Given the description of an element on the screen output the (x, y) to click on. 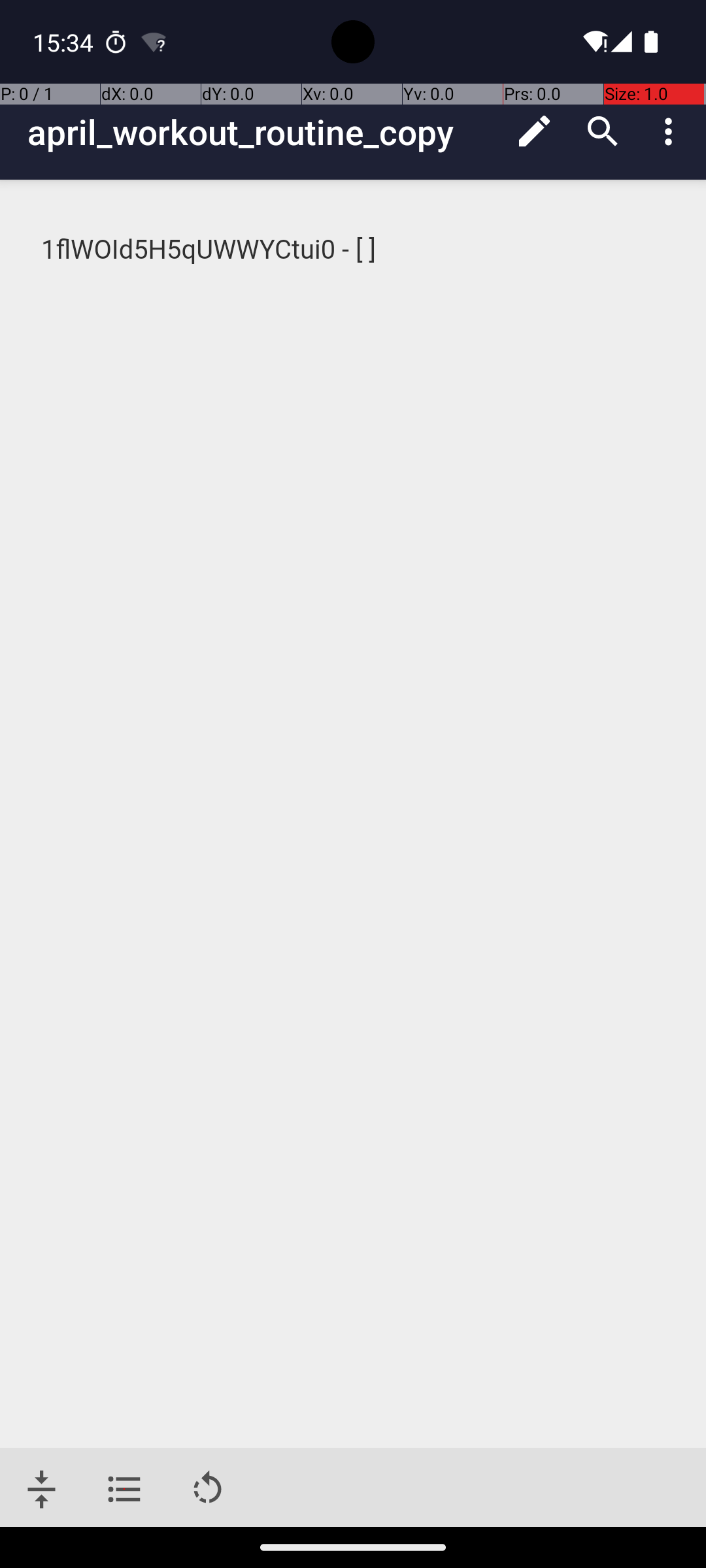
april_workout_routine_copy Element type: android.widget.TextView (263, 131)
1flWOId5H5qUWWYCtui0 - [ ] Element type: android.widget.TextView (354, 249)
